Given the description of an element on the screen output the (x, y) to click on. 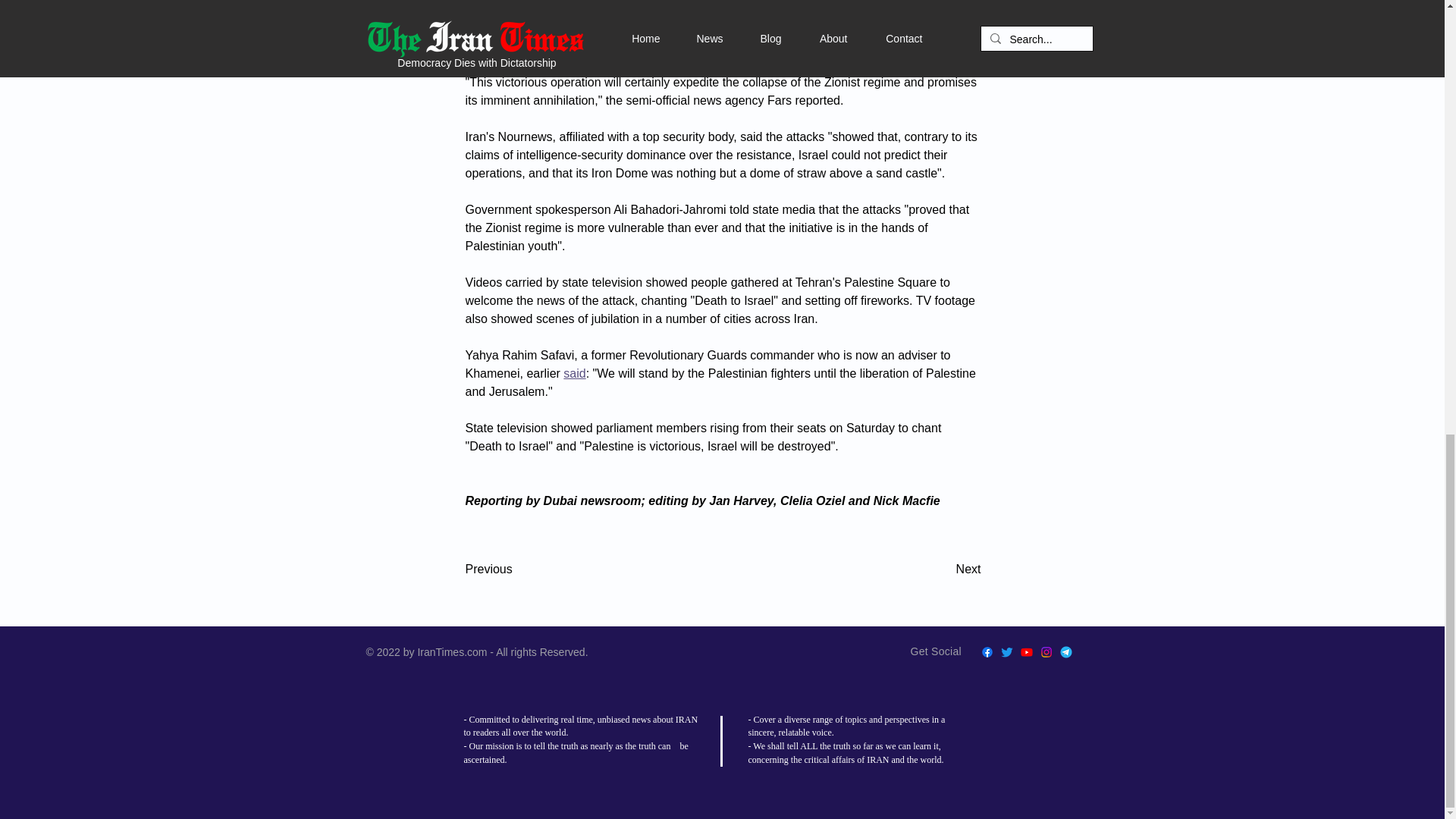
said (574, 373)
Previous (515, 569)
Next (943, 569)
